Given the description of an element on the screen output the (x, y) to click on. 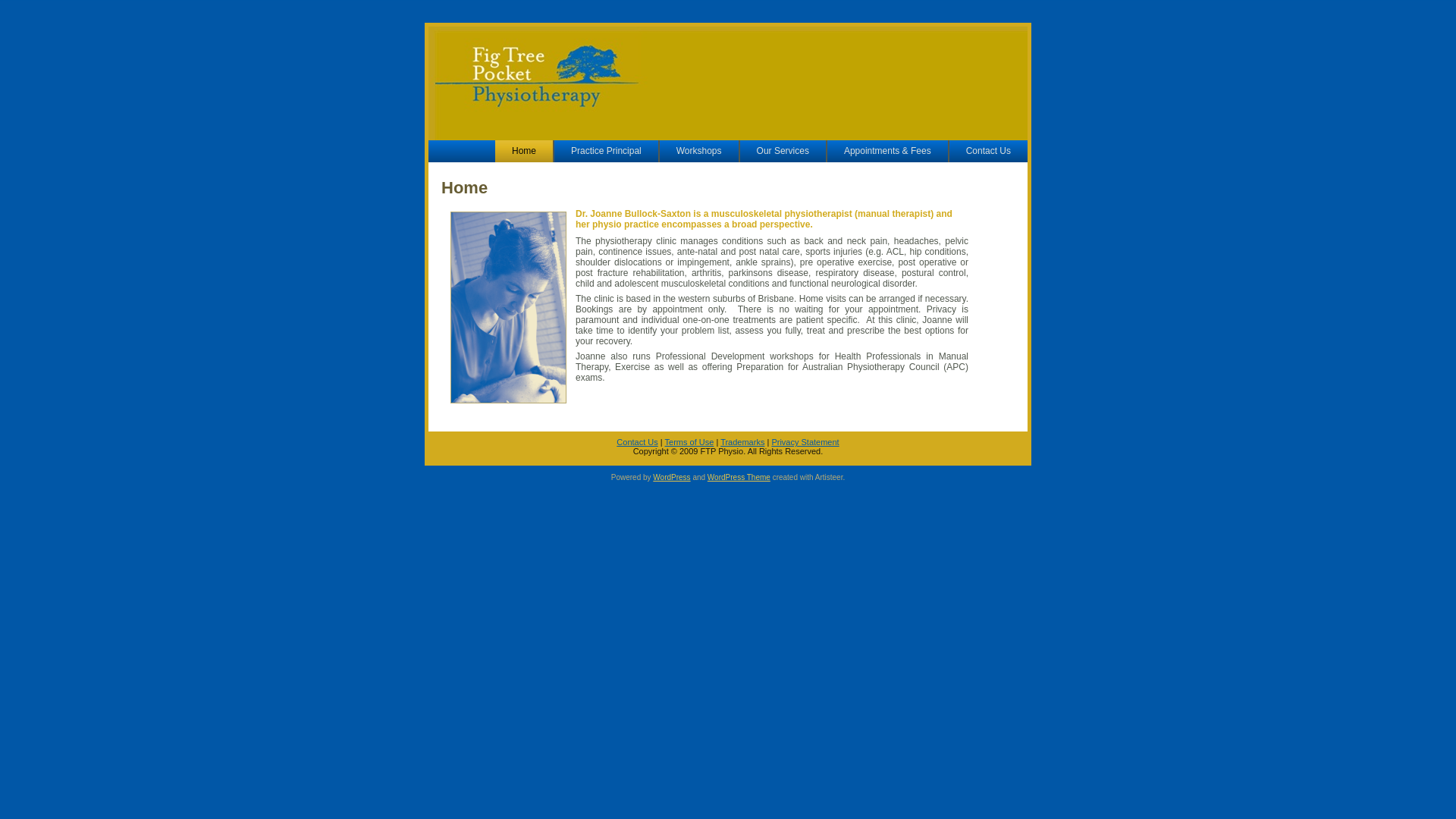
Privacy Statement Element type: text (804, 441)
Our Services Element type: text (782, 151)
Trademarks Element type: text (742, 441)
Home Element type: text (464, 187)
Contact Us Element type: text (636, 441)
Workshops Element type: text (698, 151)
Home Element type: text (523, 151)
Contact Us Element type: text (988, 151)
Practice Principal Element type: text (606, 151)
Terms of Use Element type: text (689, 441)
WordPress Theme Element type: text (738, 477)
WordPress Element type: text (671, 477)
Appointments & Fees Element type: text (887, 151)
